Given the description of an element on the screen output the (x, y) to click on. 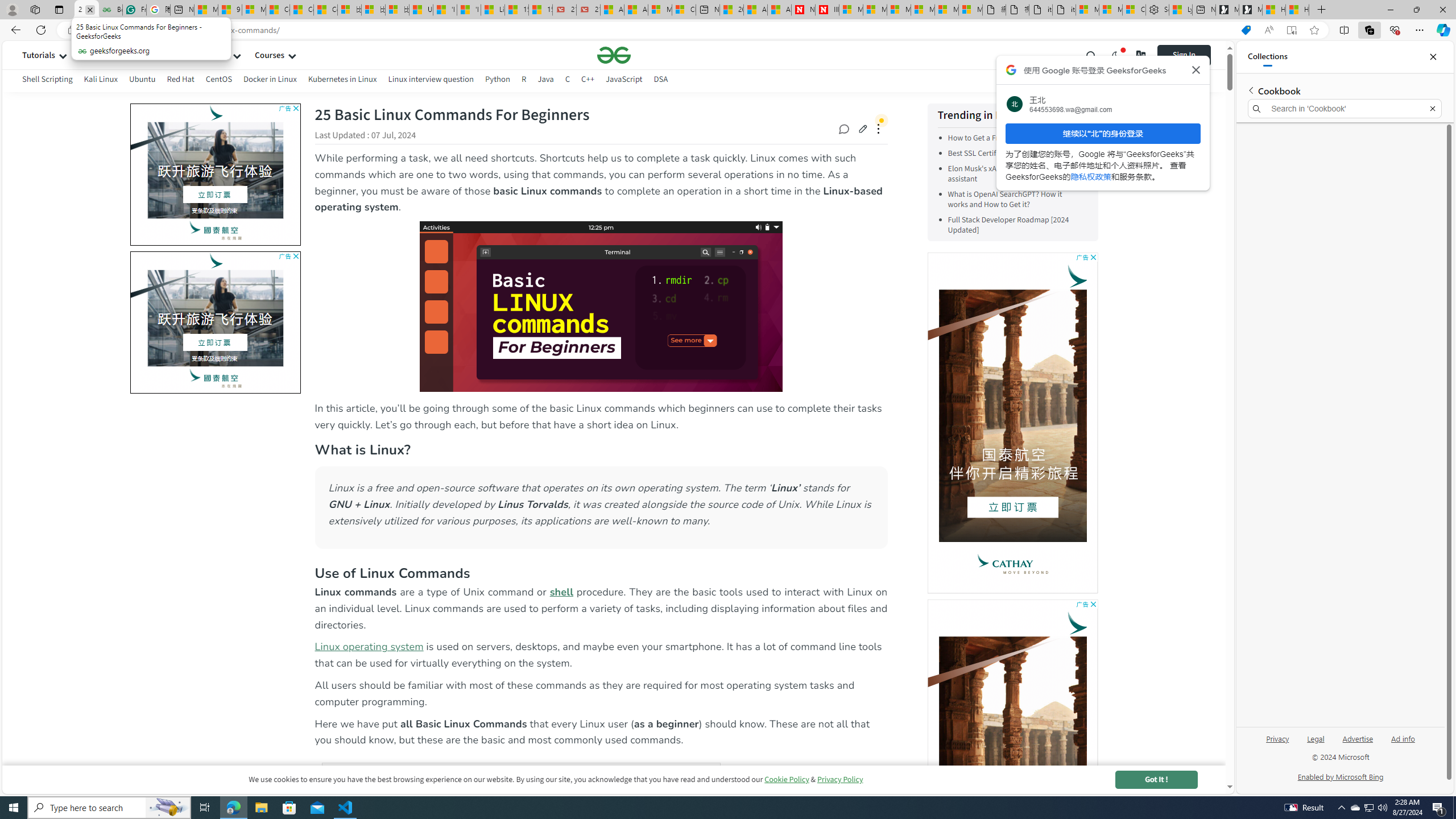
AutomationID: brandFlyLogo (216, 260)
Java (545, 80)
AutomationID: cbb (1093, 604)
Web Tech (211, 55)
Kubernetes in Linux (341, 80)
JavaScript (623, 79)
Enter Immersive Reader (F9) (1291, 29)
Kali Linux (100, 80)
Best SSL Certificates Provider in India (1015, 153)
